Given the description of an element on the screen output the (x, y) to click on. 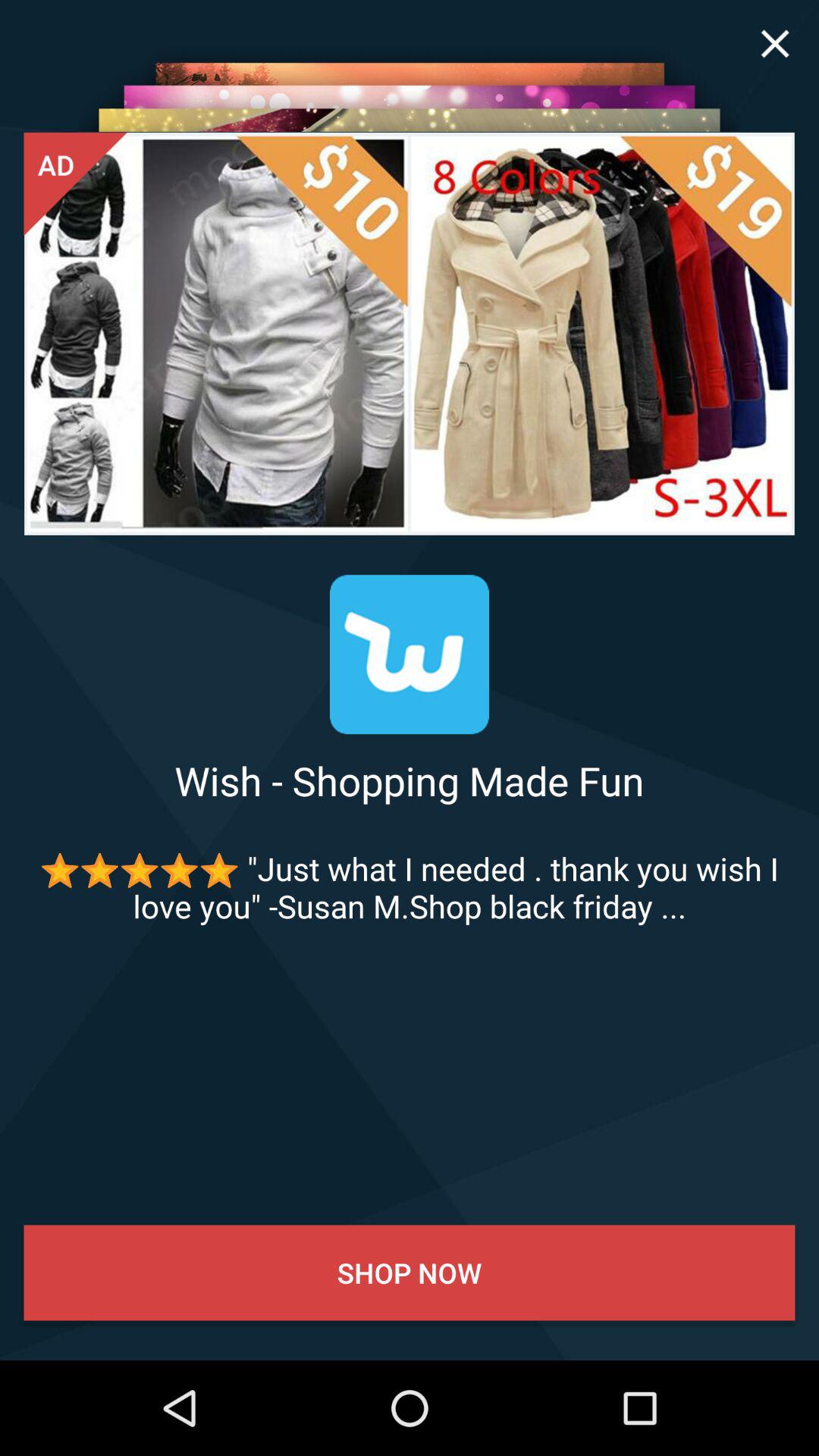
turn off the shop now item (409, 1272)
